Given the description of an element on the screen output the (x, y) to click on. 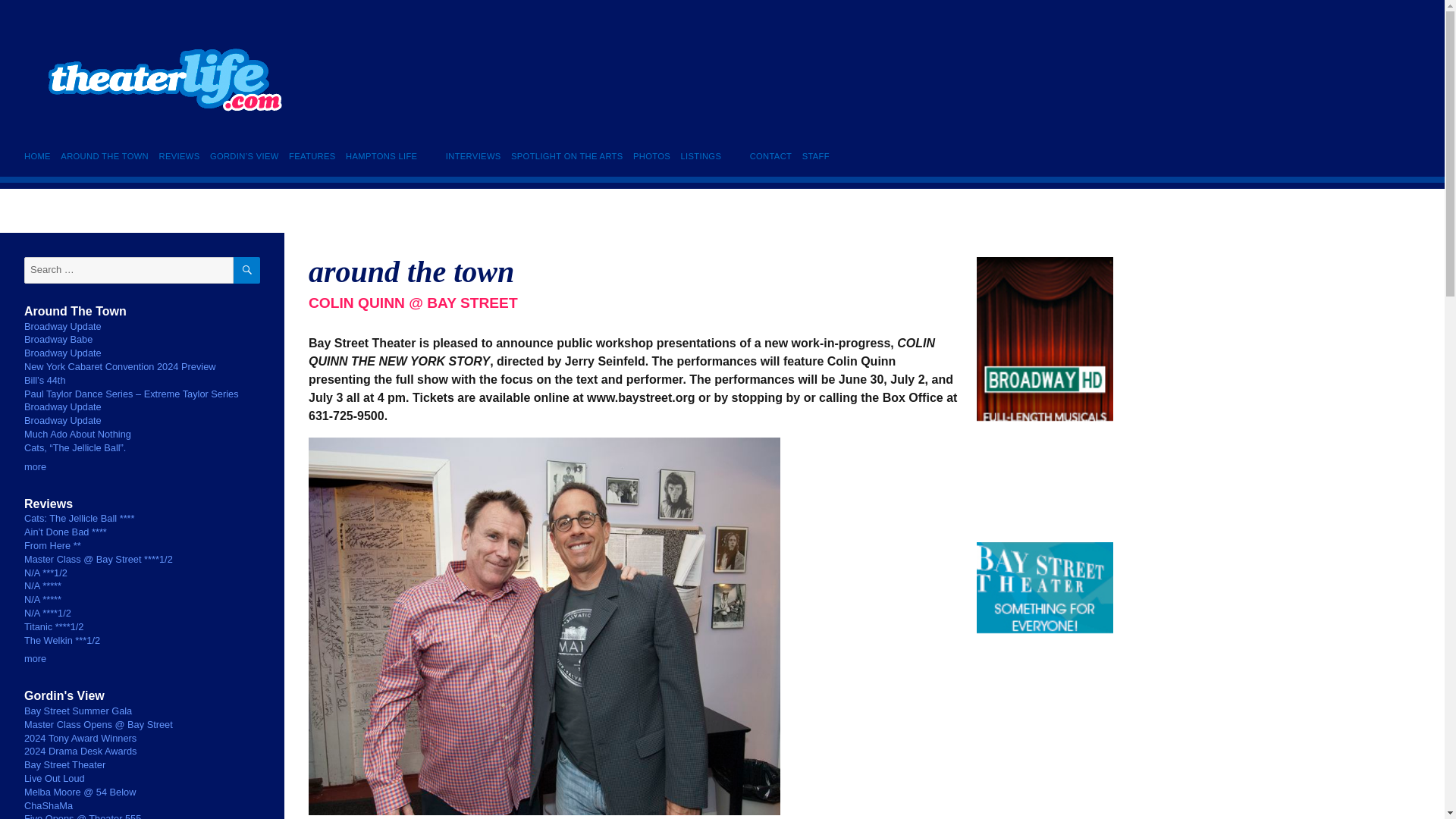
HOME (40, 156)
HAMPTONS LIFE (381, 156)
FEATURES (311, 156)
SPOTLIGHT ON THE ARTS (566, 156)
AROUND THE TOWN (105, 156)
REVIEWS (179, 156)
CONTACT (770, 156)
PHOTOS (651, 156)
STAFF (815, 156)
LISTINGS (700, 156)
INTERVIEWS (473, 156)
